Given the description of an element on the screen output the (x, y) to click on. 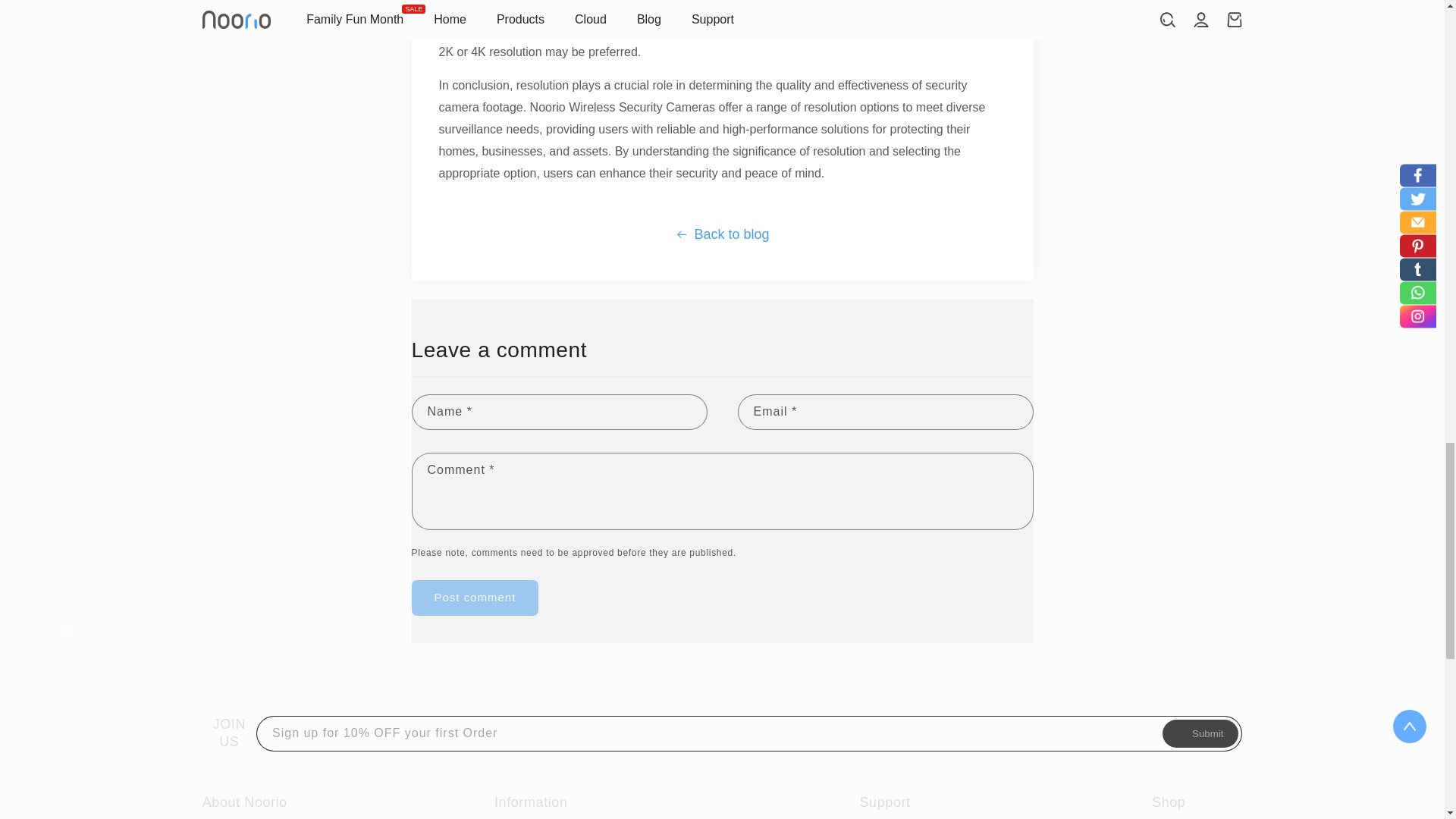
Post comment (474, 597)
